Given the description of an element on the screen output the (x, y) to click on. 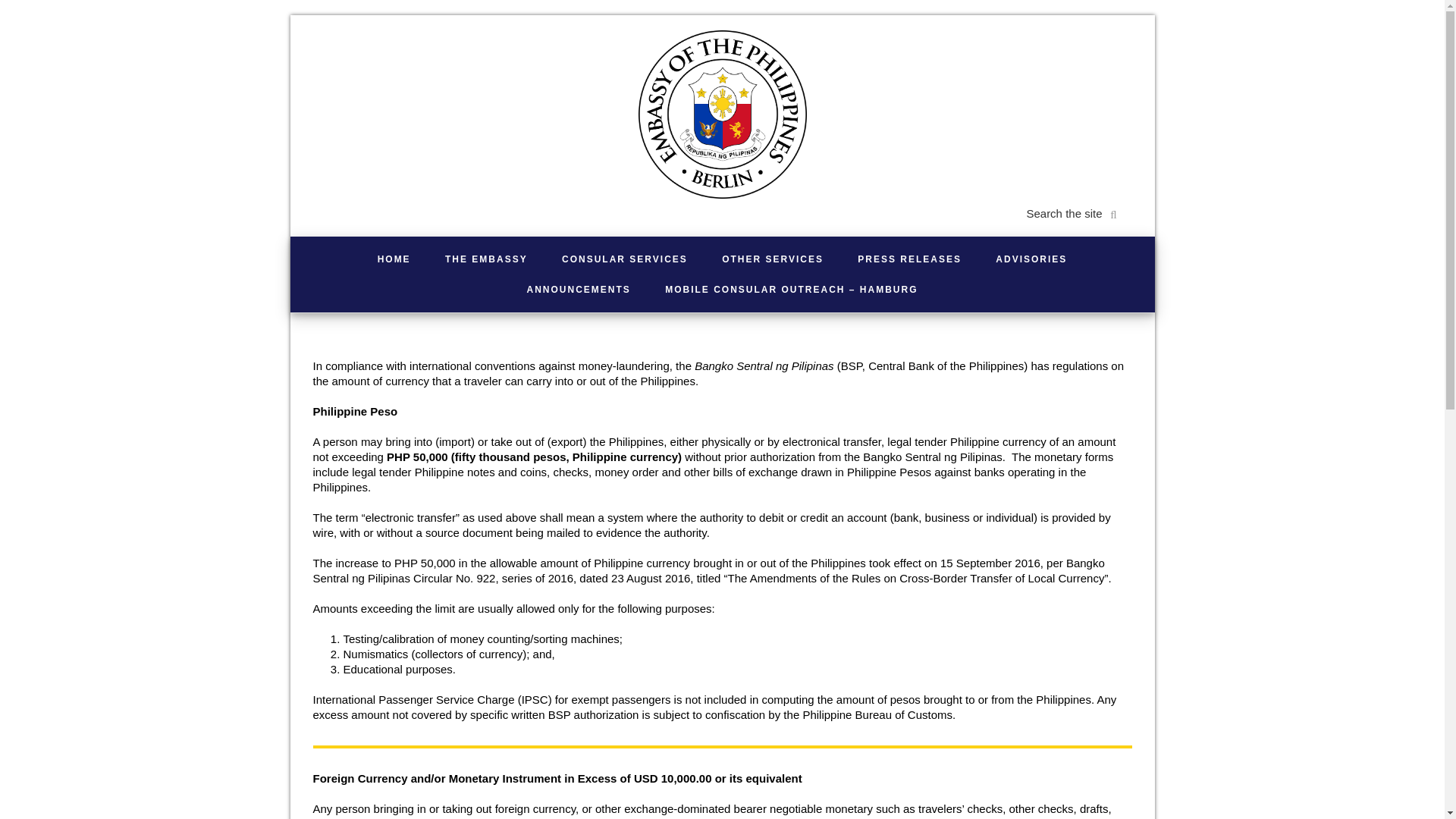
The Philippine Embassy in Berlin (722, 114)
HOME (394, 259)
CONSULAR SERVICES (625, 259)
THE EMBASSY (486, 259)
